Given the description of an element on the screen output the (x, y) to click on. 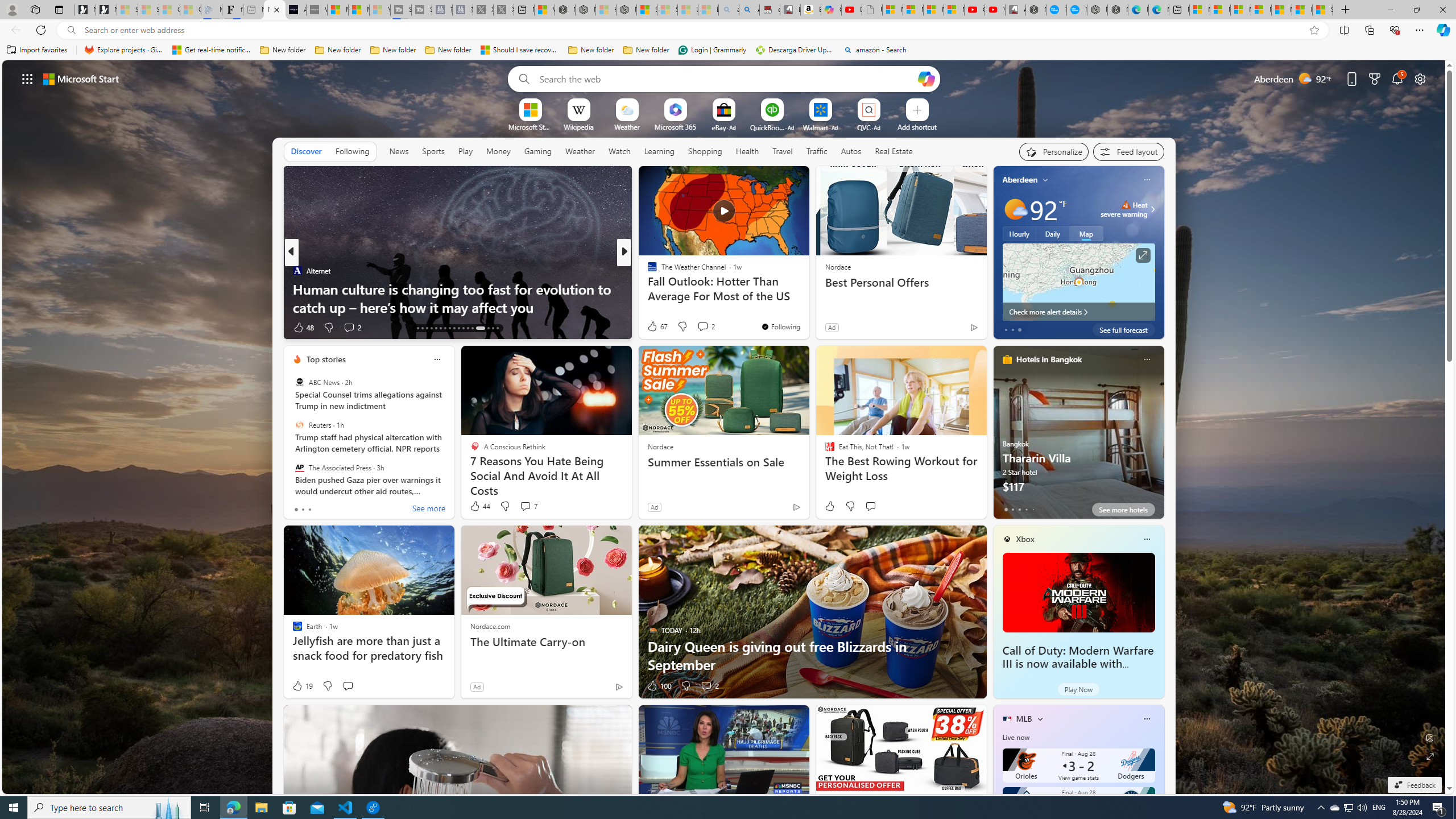
Watch (619, 151)
Microsoft Start Sports (337, 9)
AutomationID: tab-20 (431, 328)
Descarga Driver Updater (794, 49)
tab-1 (1012, 509)
Sports (432, 151)
Money (498, 151)
AutomationID: tab-19 (426, 328)
Expand background (1430, 756)
Back (13, 29)
AutomationID: tab-27 (462, 328)
Real Estate (893, 151)
Collections (1369, 29)
